Given the description of an element on the screen output the (x, y) to click on. 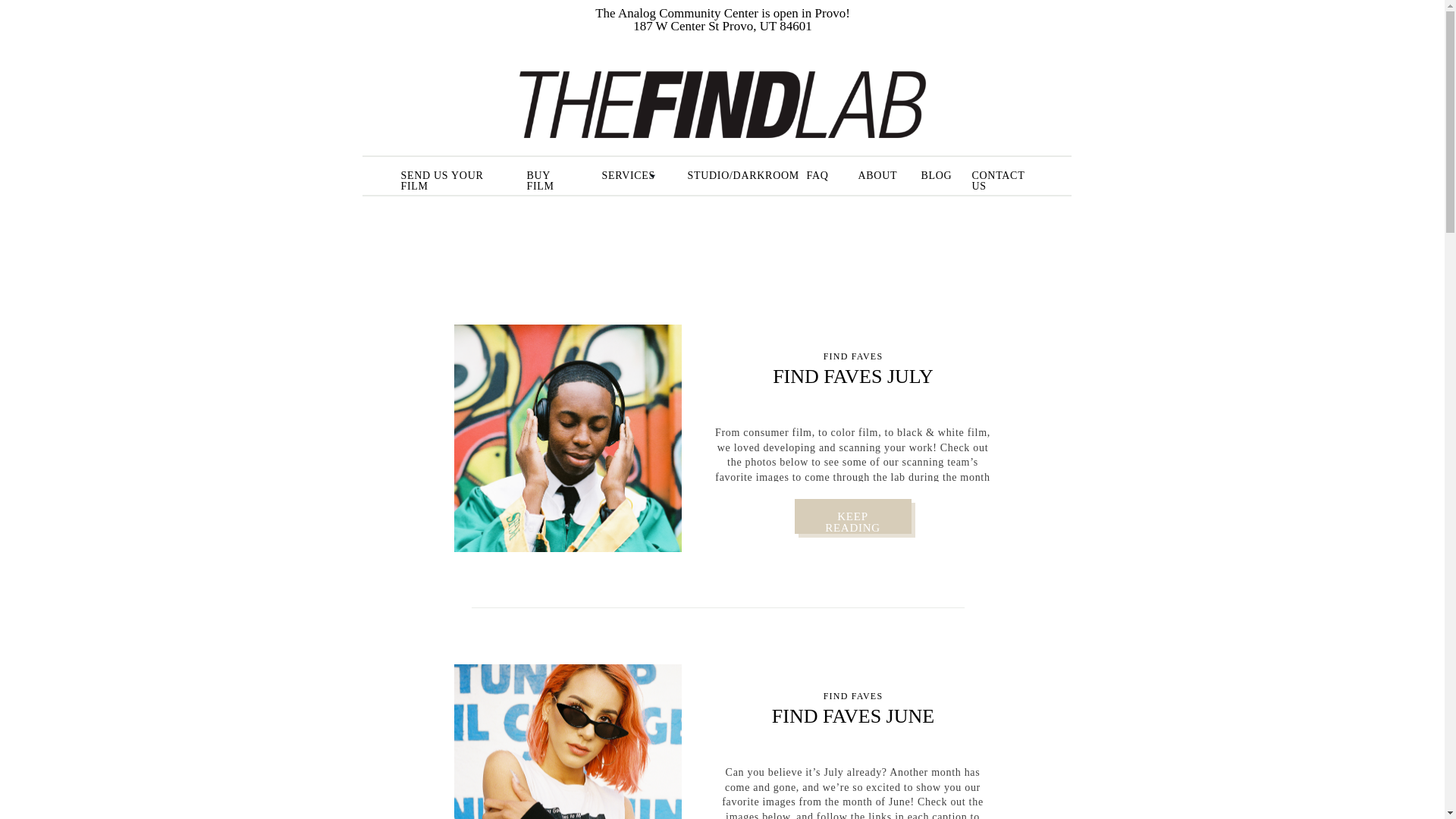
FIND FAVES JUNE (852, 716)
FIND FAVES (853, 696)
KEEP READING (852, 516)
BUY FILM (550, 175)
BLOG (933, 175)
FIND Faves July (566, 438)
FAQ (817, 175)
FIND Faves July (852, 516)
FIND Faves June (566, 741)
SERVICES (624, 175)
